Given the description of an element on the screen output the (x, y) to click on. 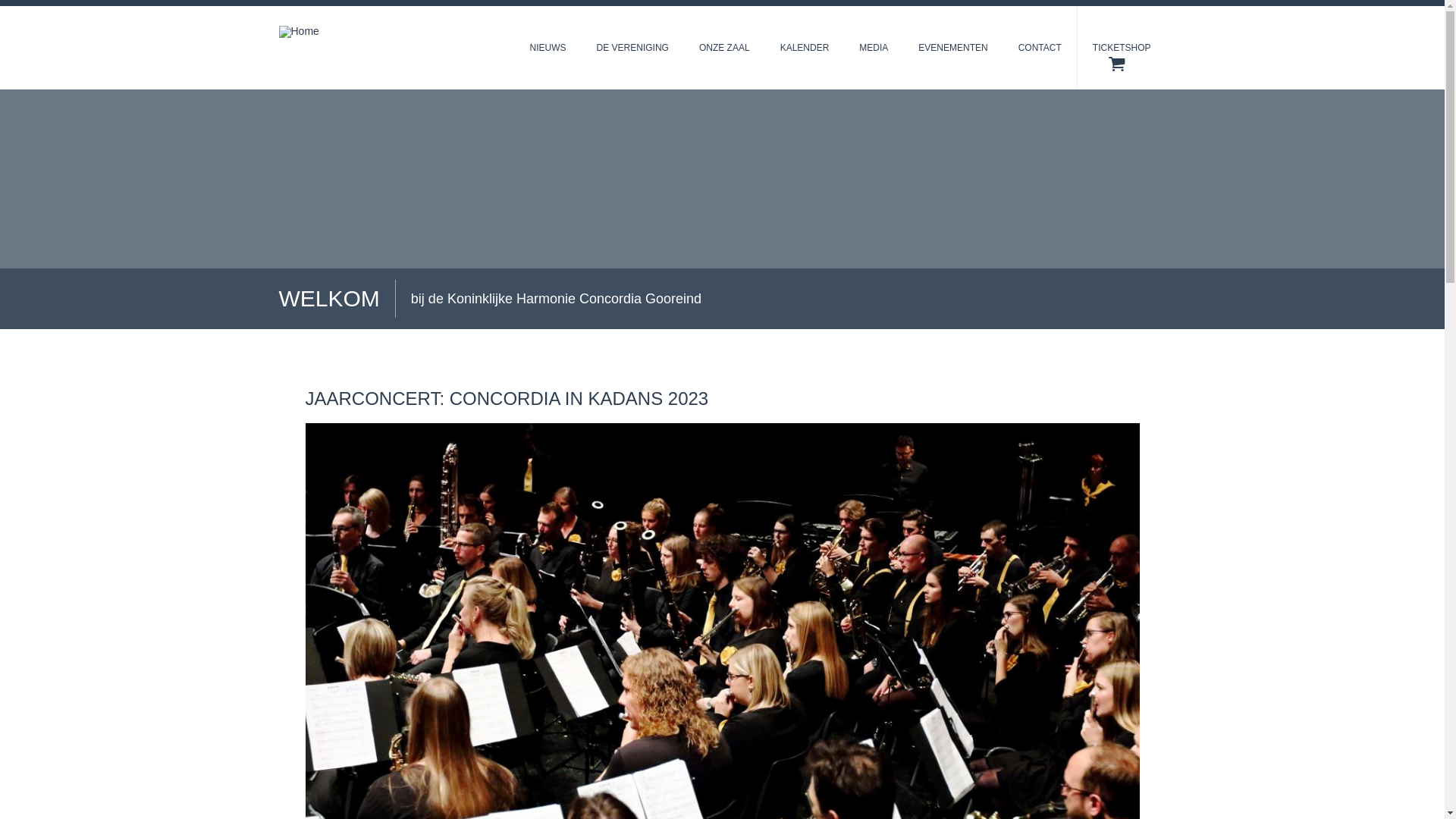
KALENDER Element type: text (804, 47)
CONTACT Element type: text (1039, 47)
MEDIA Element type: text (873, 47)
JAARCONCERT: CONCORDIA IN KADANS 2023 Element type: text (506, 398)
EVENEMENTEN Element type: text (952, 47)
NIEUWS Element type: text (547, 47)
TICKETSHOP Element type: text (1121, 47)
ONZE ZAAL Element type: text (724, 47)
DE VERENIGING Element type: text (632, 47)
